Given the description of an element on the screen output the (x, y) to click on. 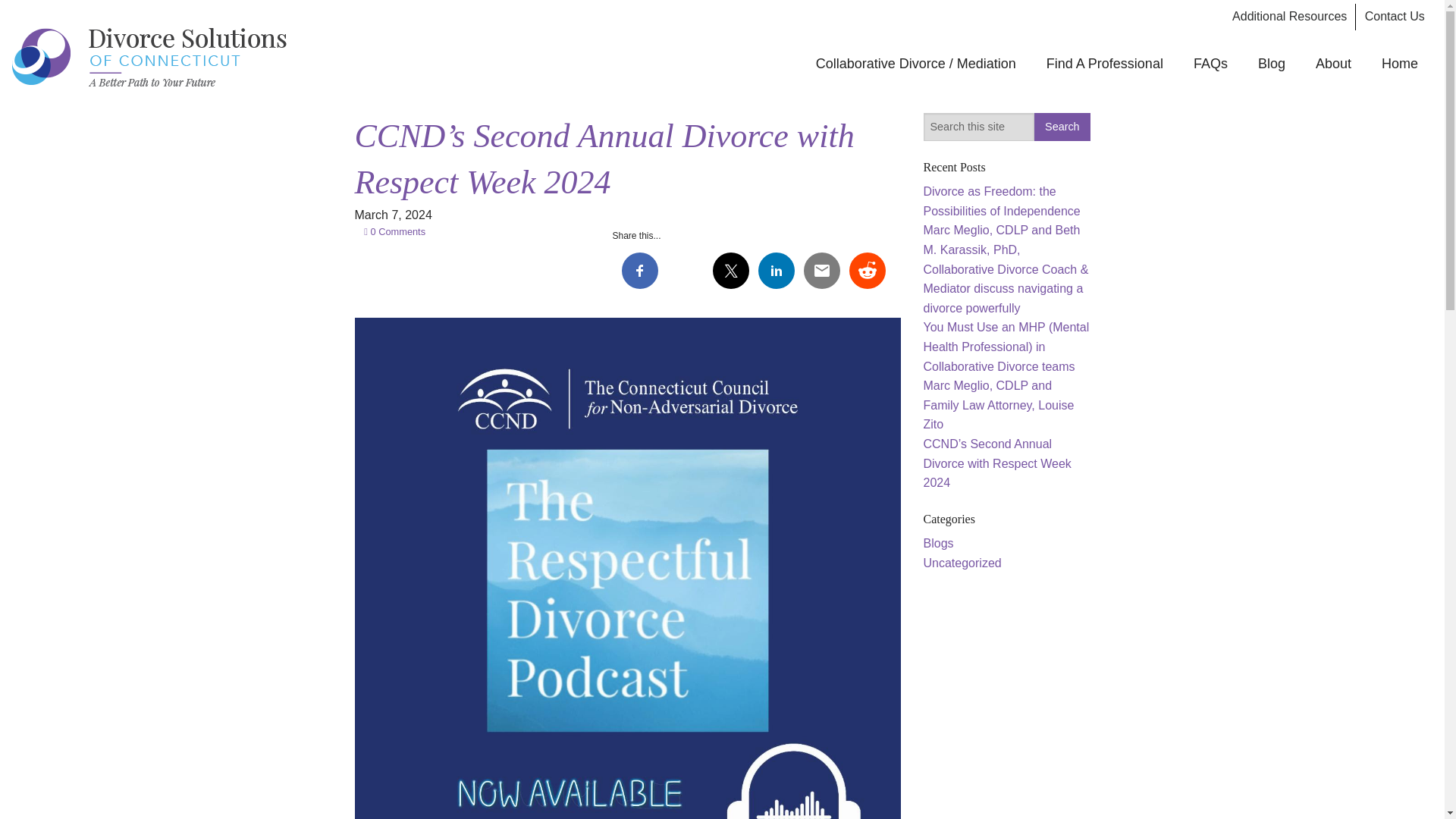
0 Comments (390, 231)
About (1333, 63)
Home (1399, 63)
Marc Meglio, CDLP and Family Law Attorney, Louise Zito (998, 404)
Blog (1271, 63)
Uncategorized (962, 562)
Contact Us (1393, 17)
FAQs (1210, 63)
Blogs (938, 543)
Search (1061, 126)
